Given the description of an element on the screen output the (x, y) to click on. 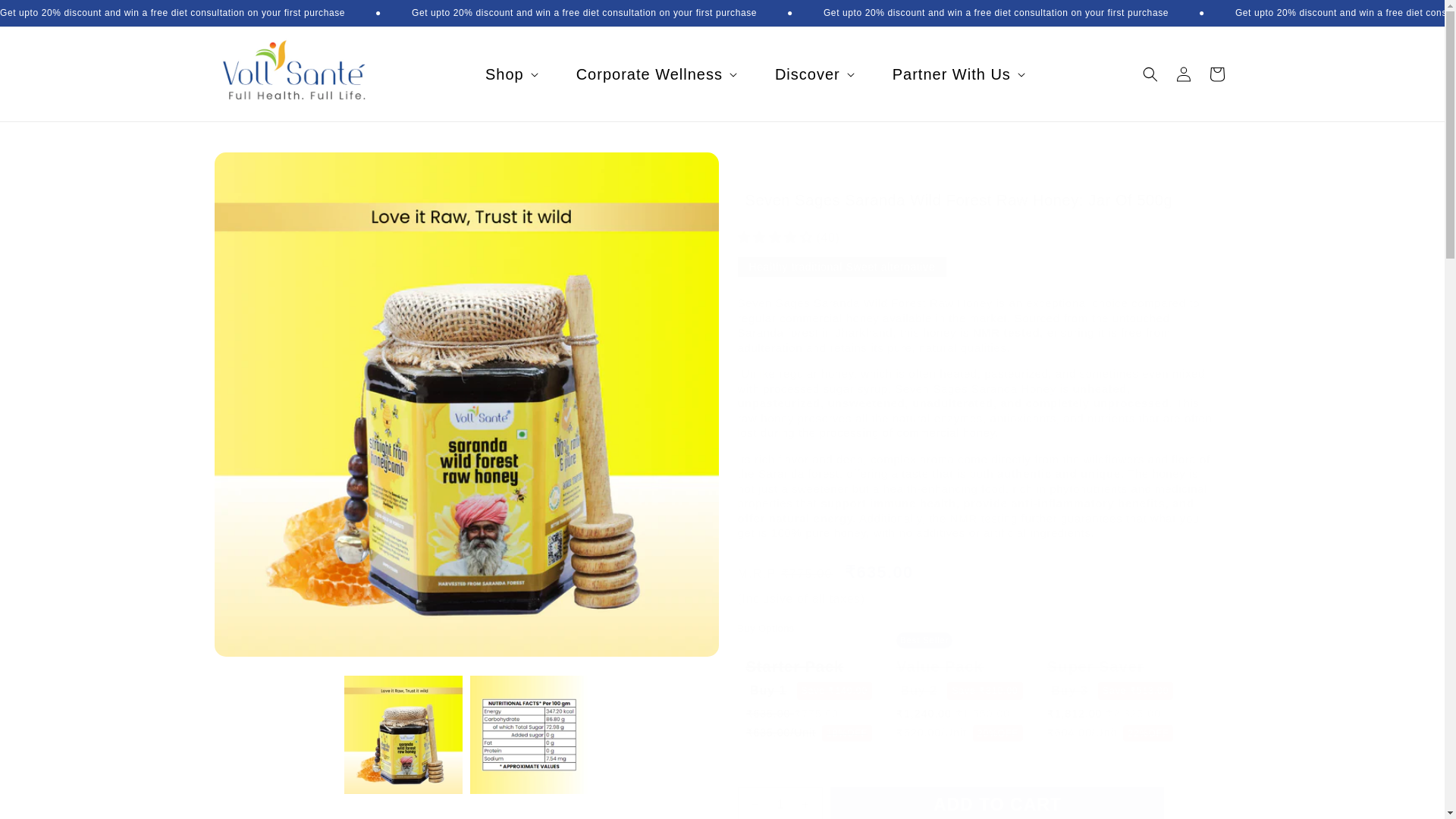
Skip to content (45, 17)
